Given the description of an element on the screen output the (x, y) to click on. 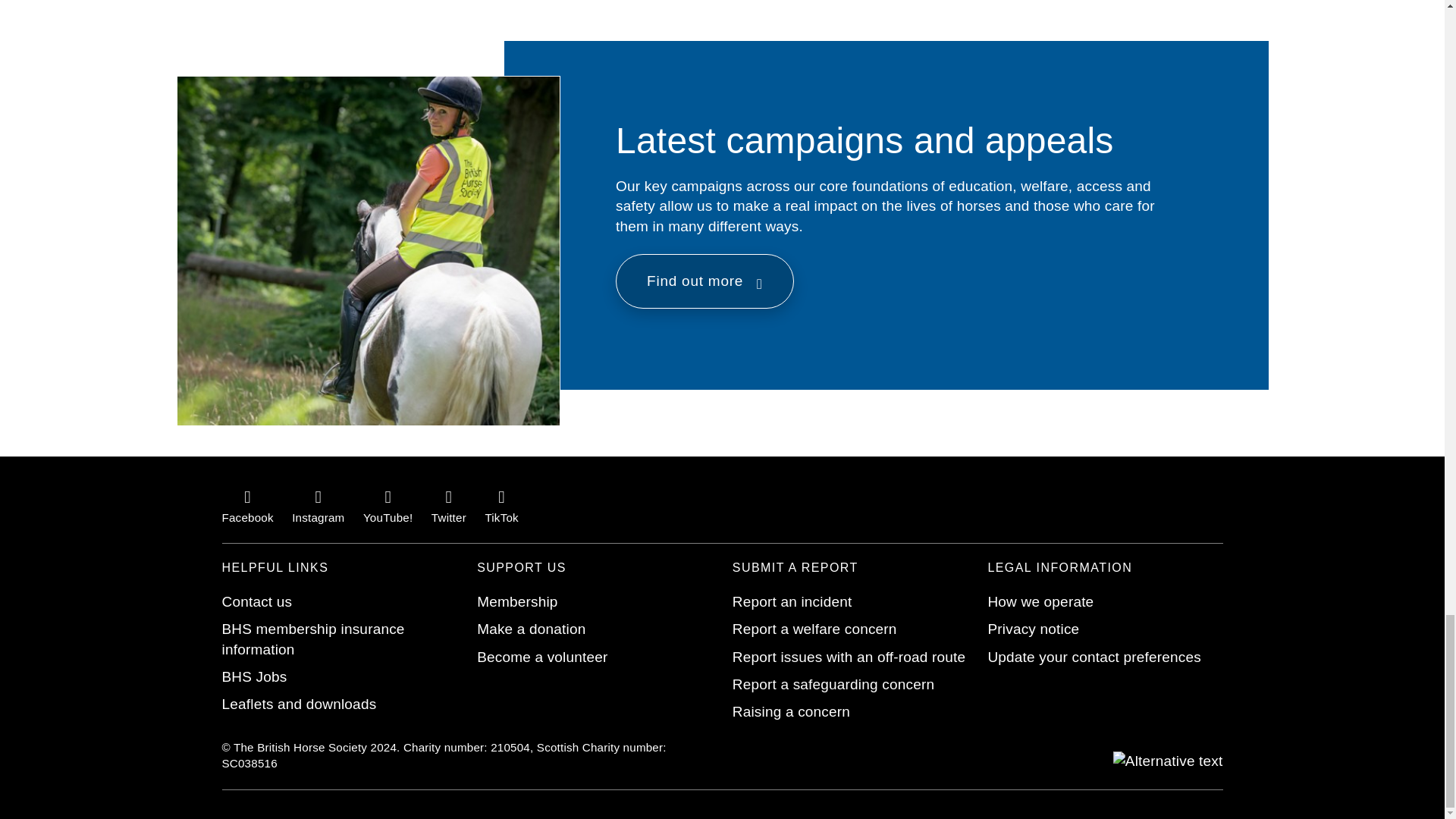
The BHS instagram profile (317, 505)
The BHS Youtube profile (387, 505)
The BHS Facebook profile (247, 505)
